Given the description of an element on the screen output the (x, y) to click on. 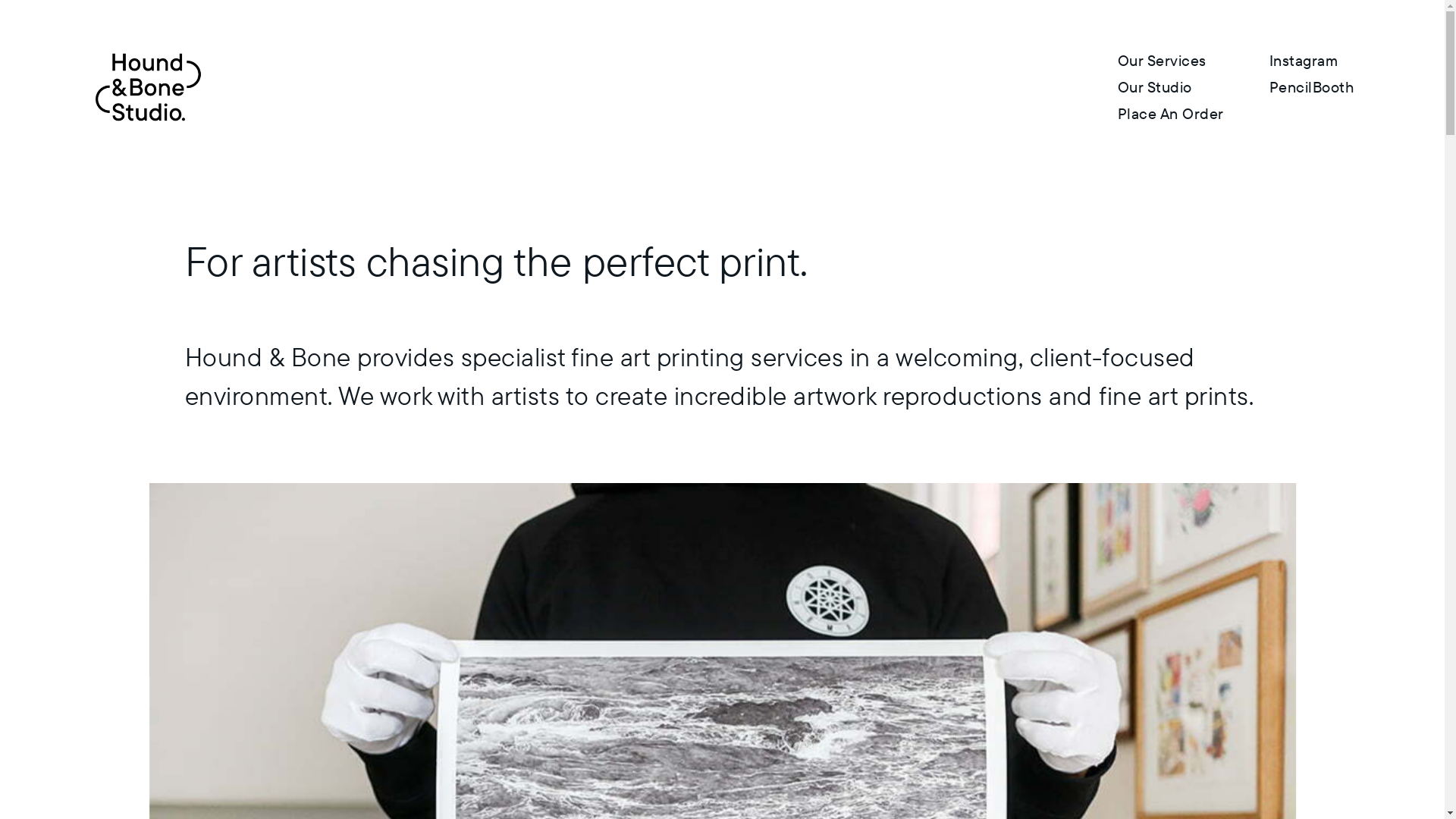
fine art prints Element type: text (1173, 395)
artwork reproductions Element type: text (917, 395)
Hound & Bone Studio Element type: hover (147, 87)
PencilBooth Element type: text (1311, 86)
Instagram Element type: text (1303, 60)
Our Services Element type: text (1161, 60)
Our Studio Element type: text (1154, 86)
Place An Order Element type: text (1170, 113)
